Given the description of an element on the screen output the (x, y) to click on. 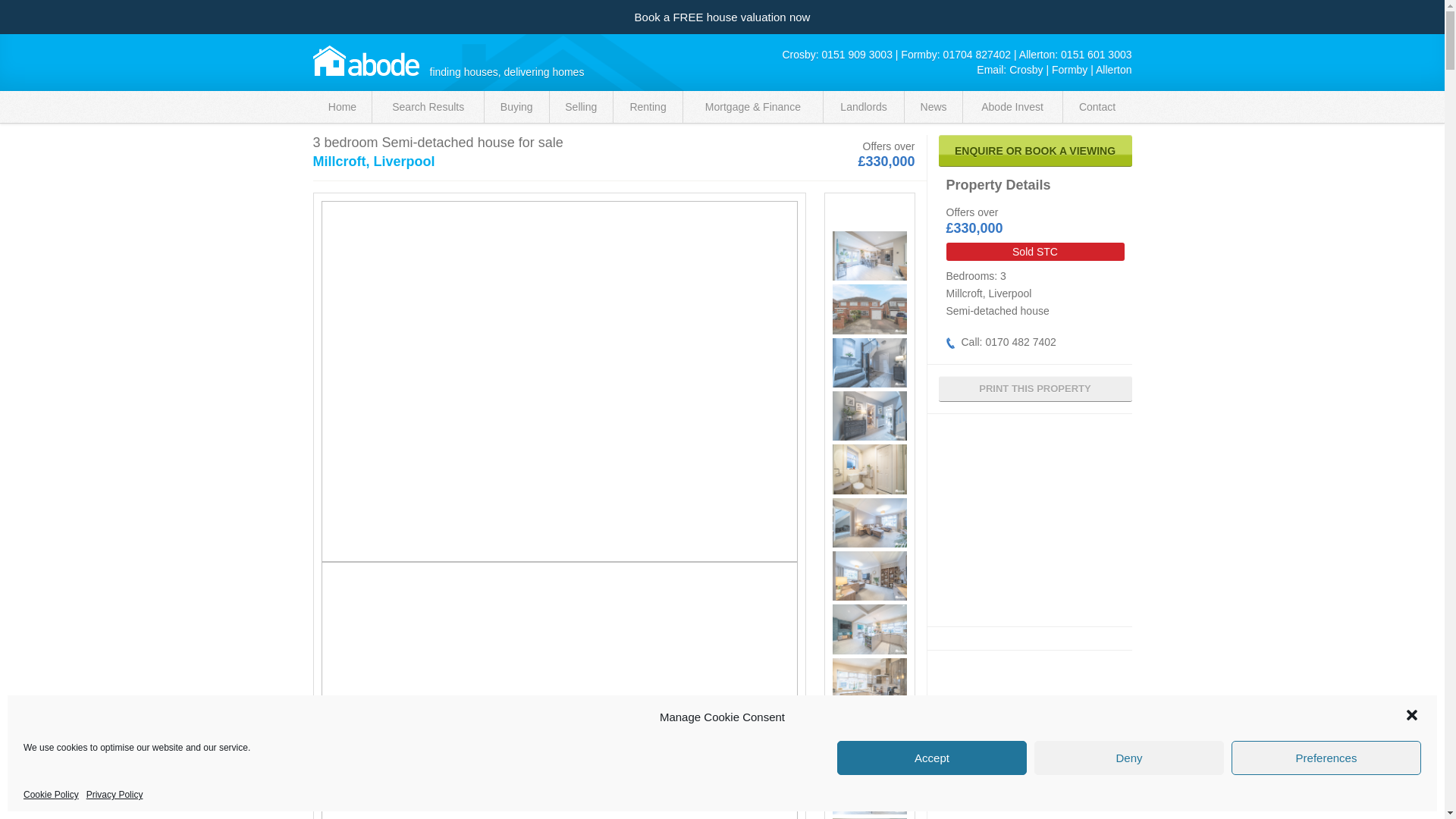
Accept (931, 757)
ENQUIRE OR BOOK A VIEWING (1035, 151)
Abode Group (366, 60)
PRINT THIS PROPERTY (1035, 388)
Landlords (864, 106)
Renting (647, 106)
Crosby (1025, 69)
Abode Invest (1012, 106)
finding houses, delivering homes (366, 60)
Buying (516, 106)
